Given the description of an element on the screen output the (x, y) to click on. 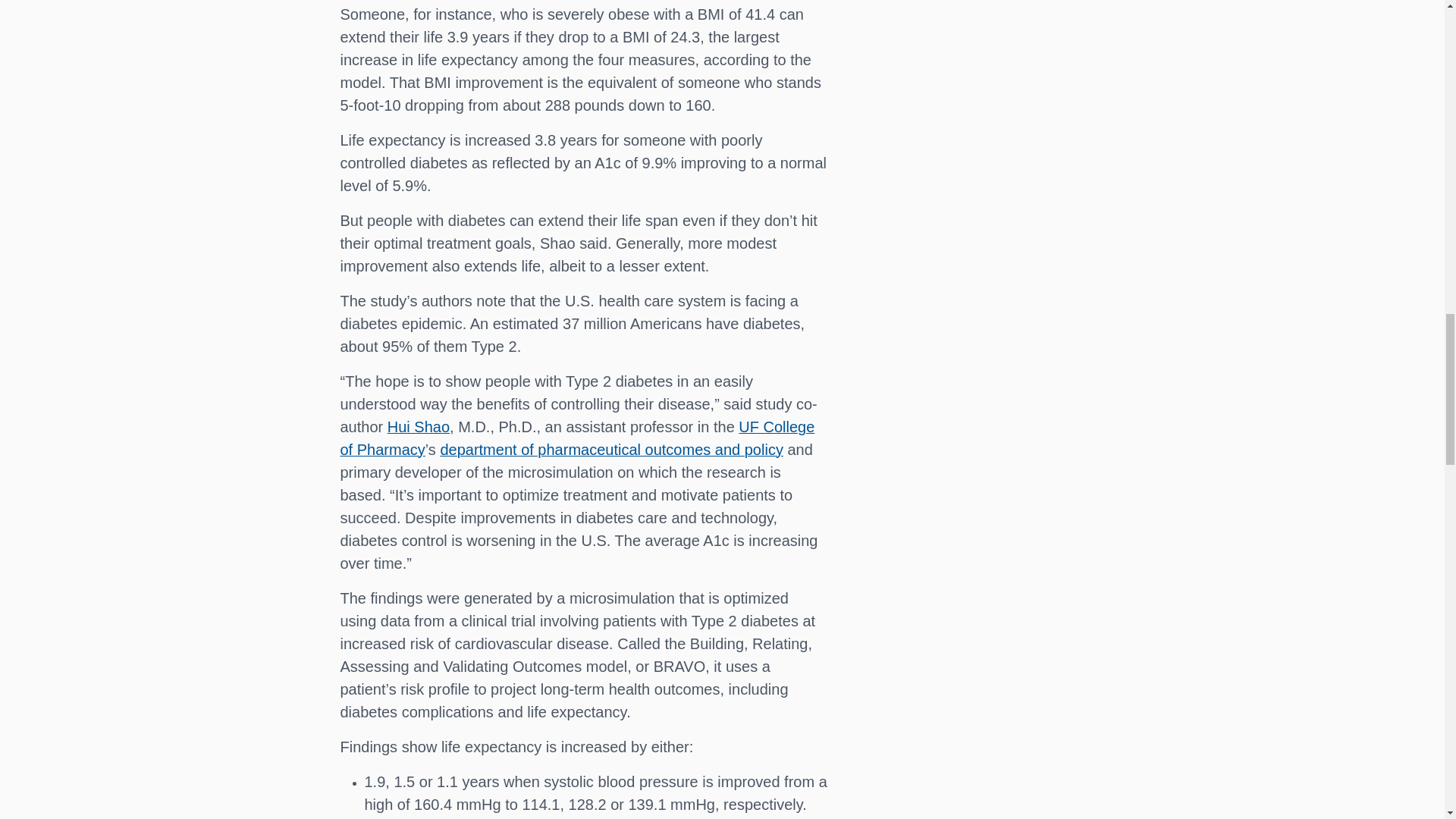
UF College of Pharmacy (576, 437)
department of pharmaceutical outcomes and policy (611, 449)
Hui Shao (418, 426)
